Given the description of an element on the screen output the (x, y) to click on. 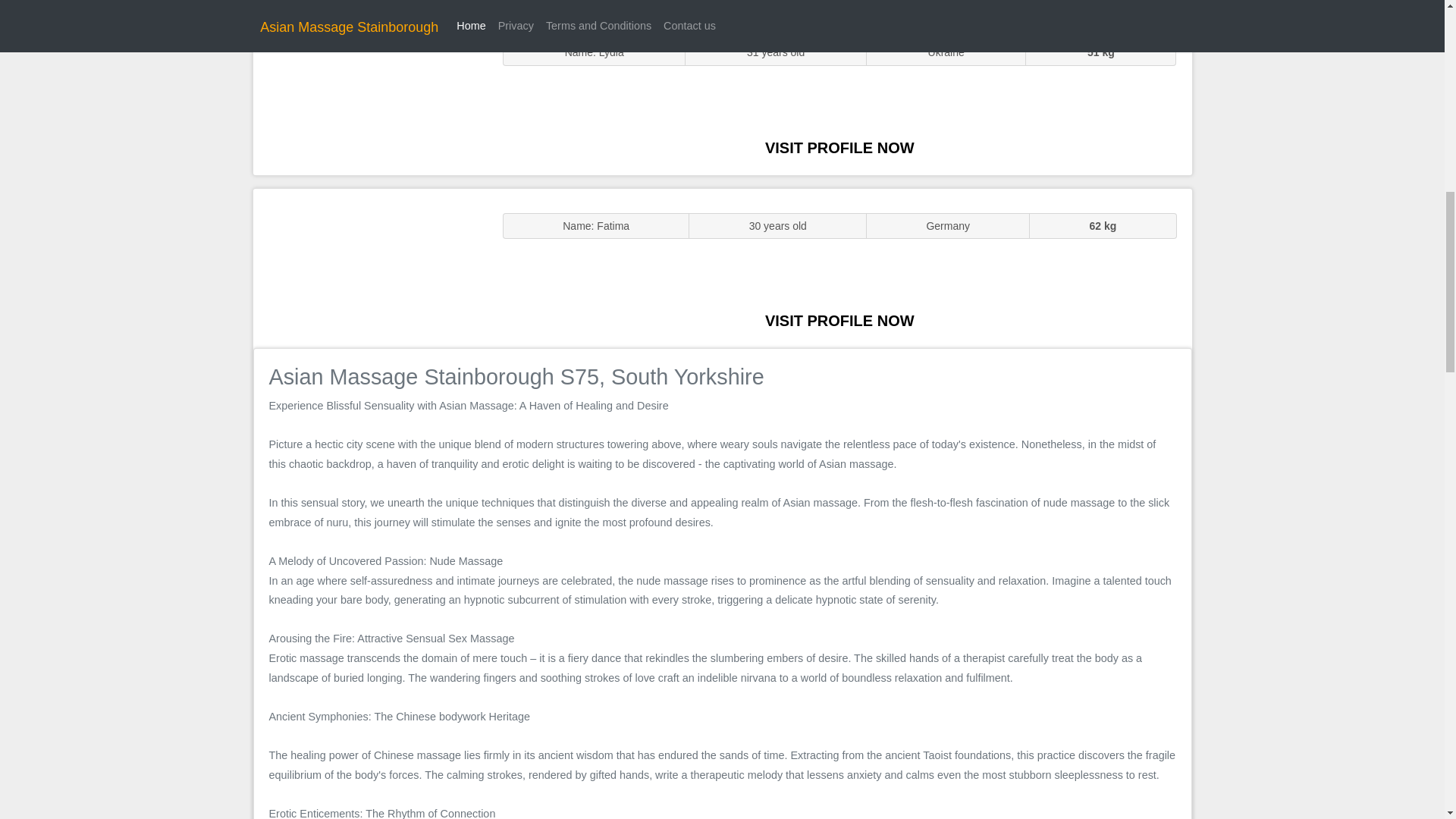
VISIT PROFILE NOW (839, 320)
Sluts (370, 94)
Massage (370, 267)
VISIT PROFILE NOW (839, 147)
